Given the description of an element on the screen output the (x, y) to click on. 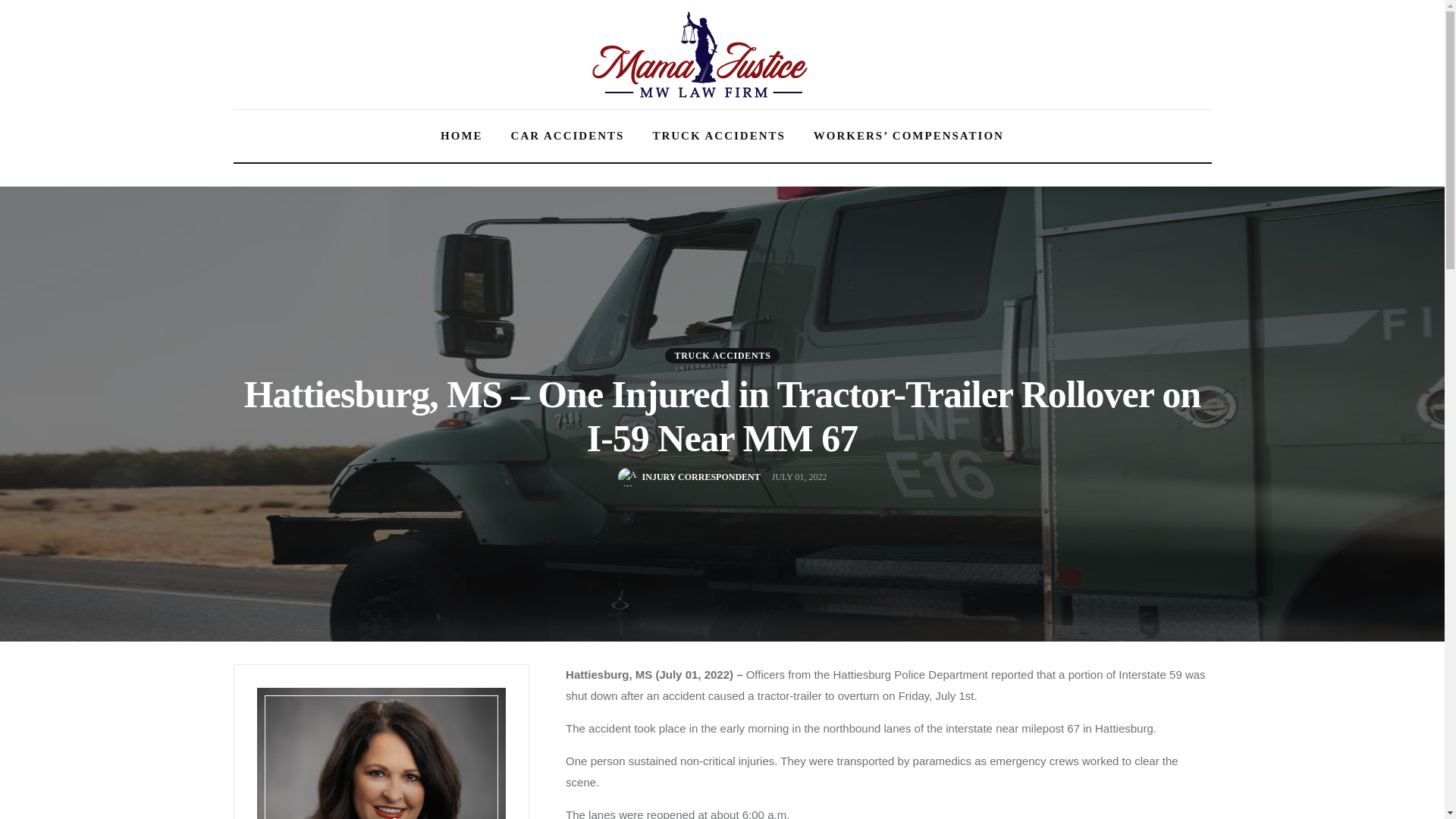
CAR ACCIDENTS (567, 135)
TRUCK ACCIDENTS (718, 135)
HOME (462, 135)
Gravatar for Injury Correspondent (627, 476)
TRUCK ACCIDENTS (721, 354)
INJURY CORRESPONDENT (688, 476)
